Given the description of an element on the screen output the (x, y) to click on. 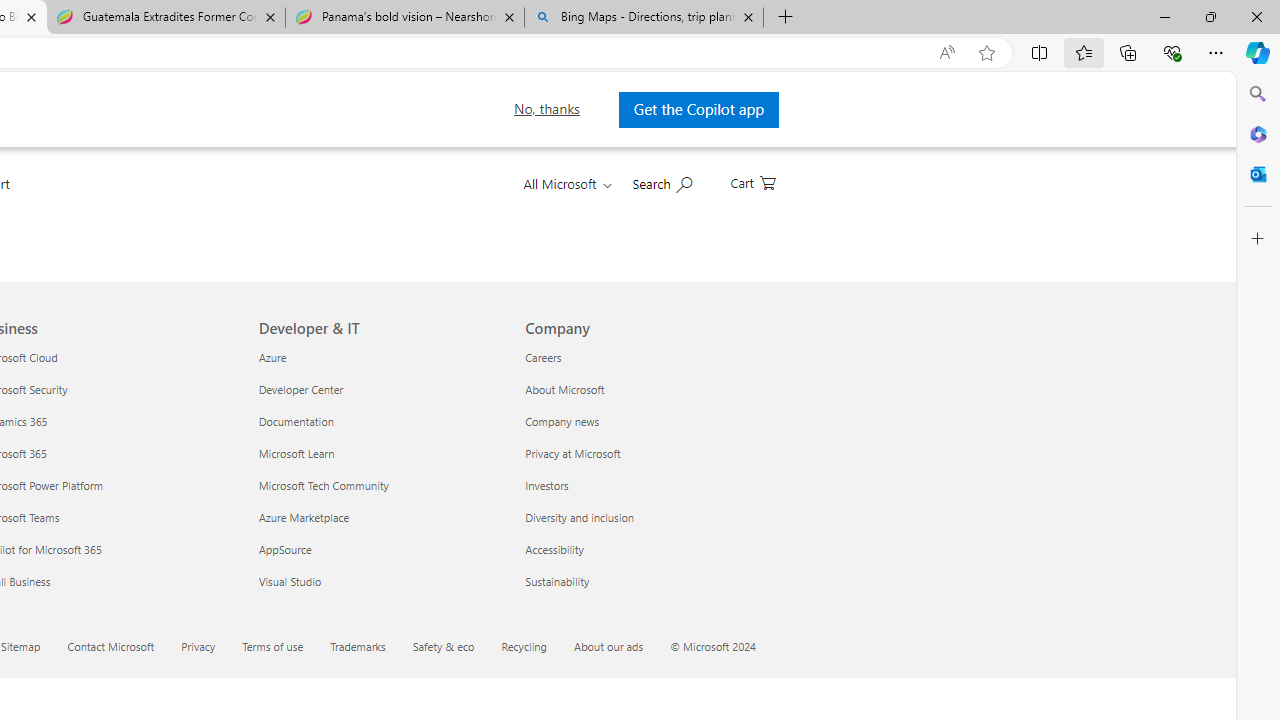
No, thanks (540, 109)
0 items in shopping cart (752, 181)
